Given the description of an element on the screen output the (x, y) to click on. 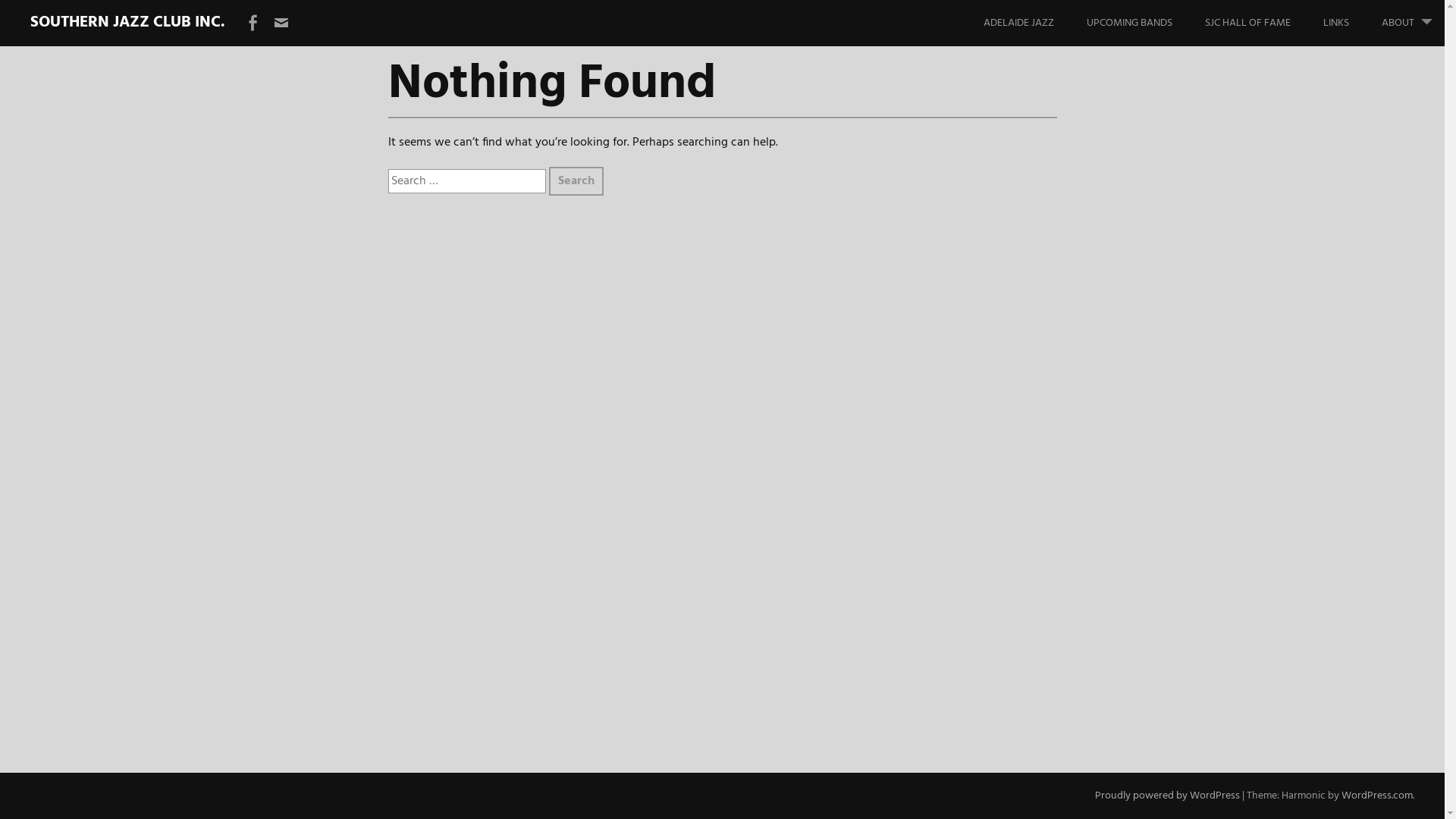
LINKS Element type: text (1351, 23)
Proudly powered by WordPress Element type: text (1167, 795)
ADELAIDE JAZZ Element type: text (1033, 23)
SJC HALL OF FAME Element type: text (1262, 23)
ABOUT Element type: text (1412, 23)
Facebook Element type: text (252, 23)
WordPress.com Element type: text (1376, 795)
SOUTHERN JAZZ CLUB INC. Element type: text (127, 22)
UPCOMING BANDS Element type: text (1144, 23)
Search Element type: text (576, 180)
Email Us Element type: text (281, 23)
